Given the description of an element on the screen output the (x, y) to click on. 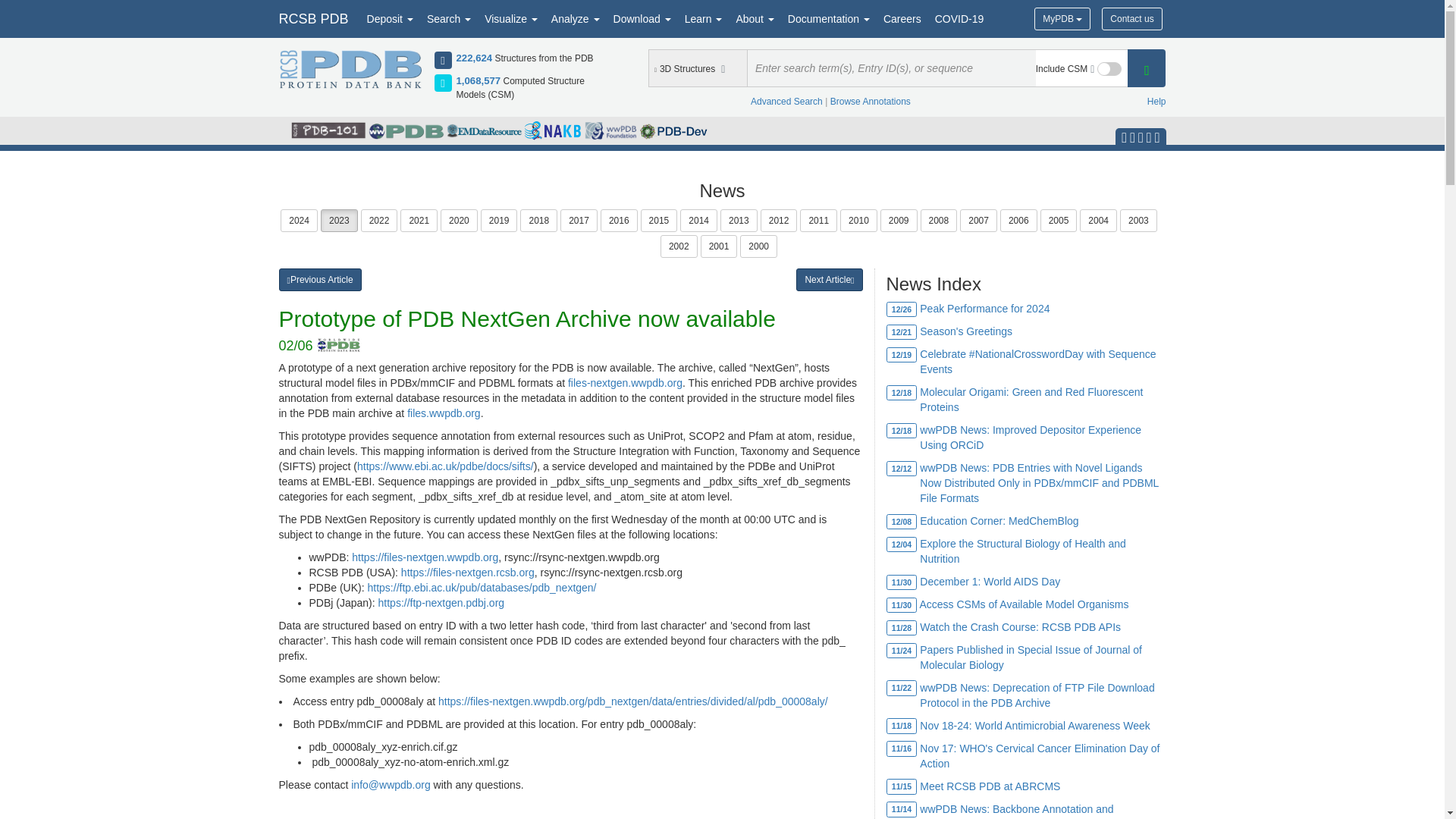
Deposit  (389, 18)
MyPDB (1061, 18)
Search  (448, 18)
RCSB PDB (312, 18)
